Given the description of an element on the screen output the (x, y) to click on. 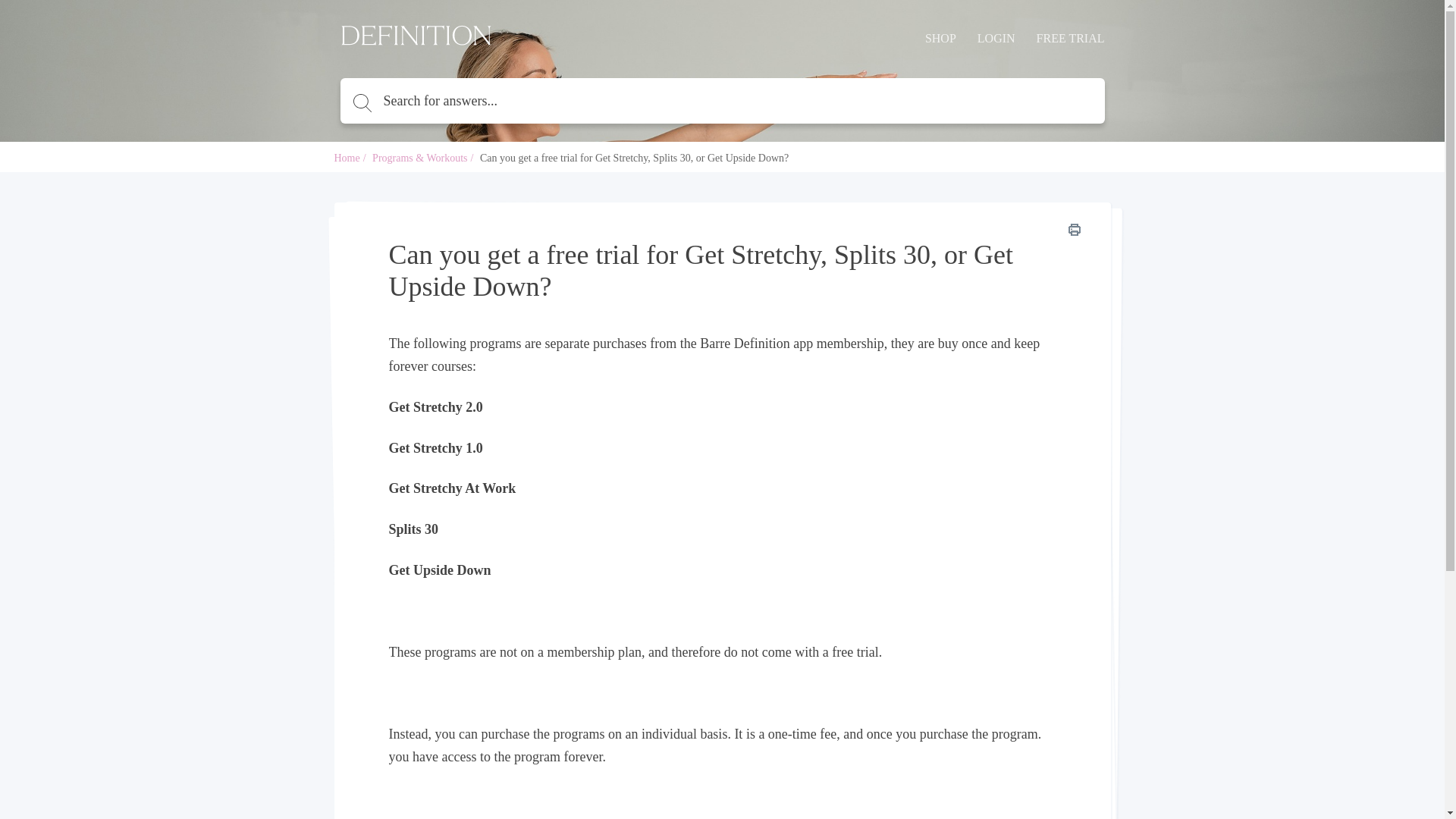
FREE TRIAL (1070, 38)
Home (346, 157)
LOGIN (995, 38)
SHOP (940, 38)
